Given the description of an element on the screen output the (x, y) to click on. 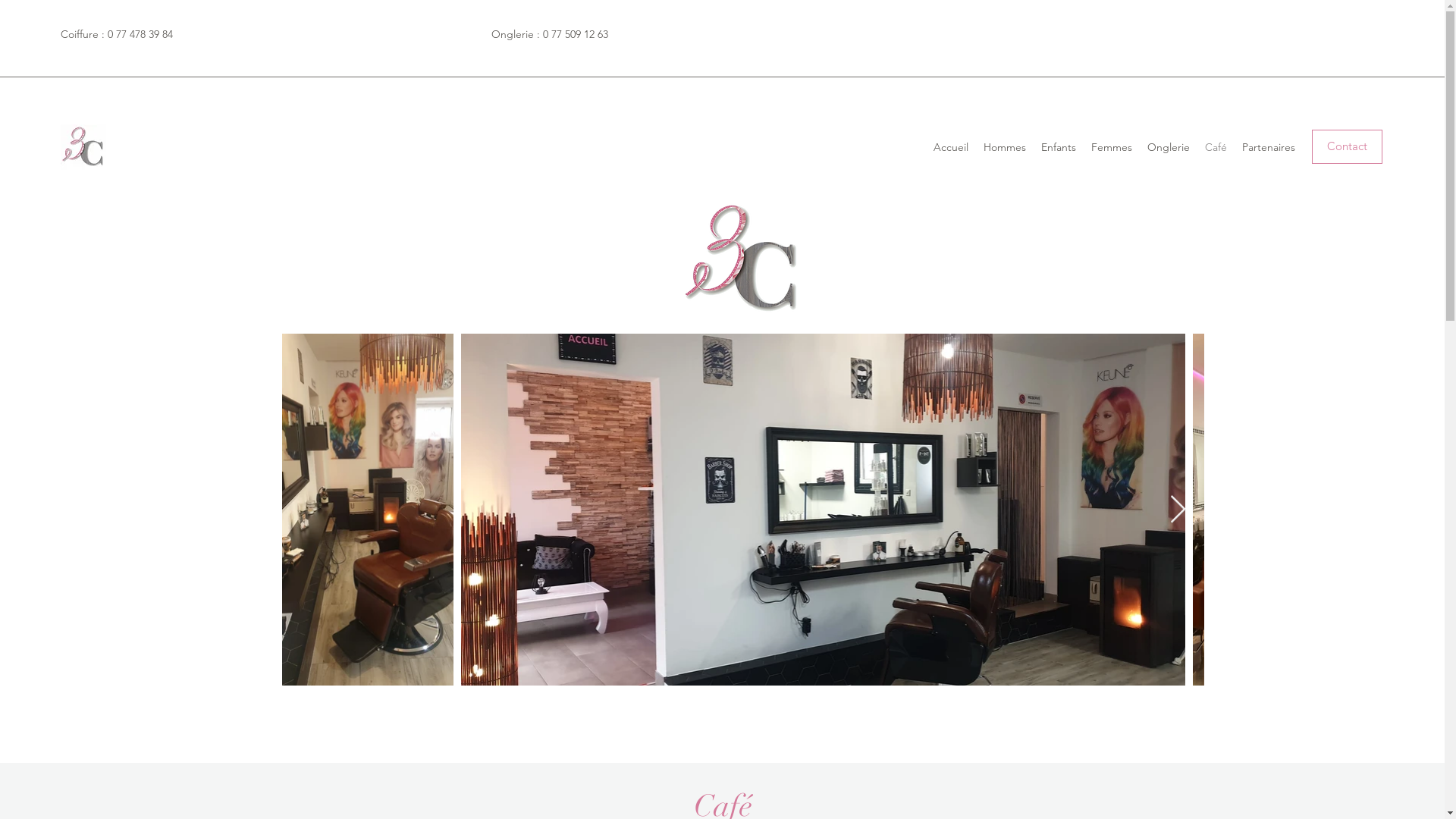
Hommes Element type: text (1004, 146)
Partenaires Element type: text (1268, 146)
Accueil Element type: text (950, 146)
Onglerie Element type: text (1168, 146)
Femmes Element type: text (1111, 146)
Enfants Element type: text (1058, 146)
